Given the description of an element on the screen output the (x, y) to click on. 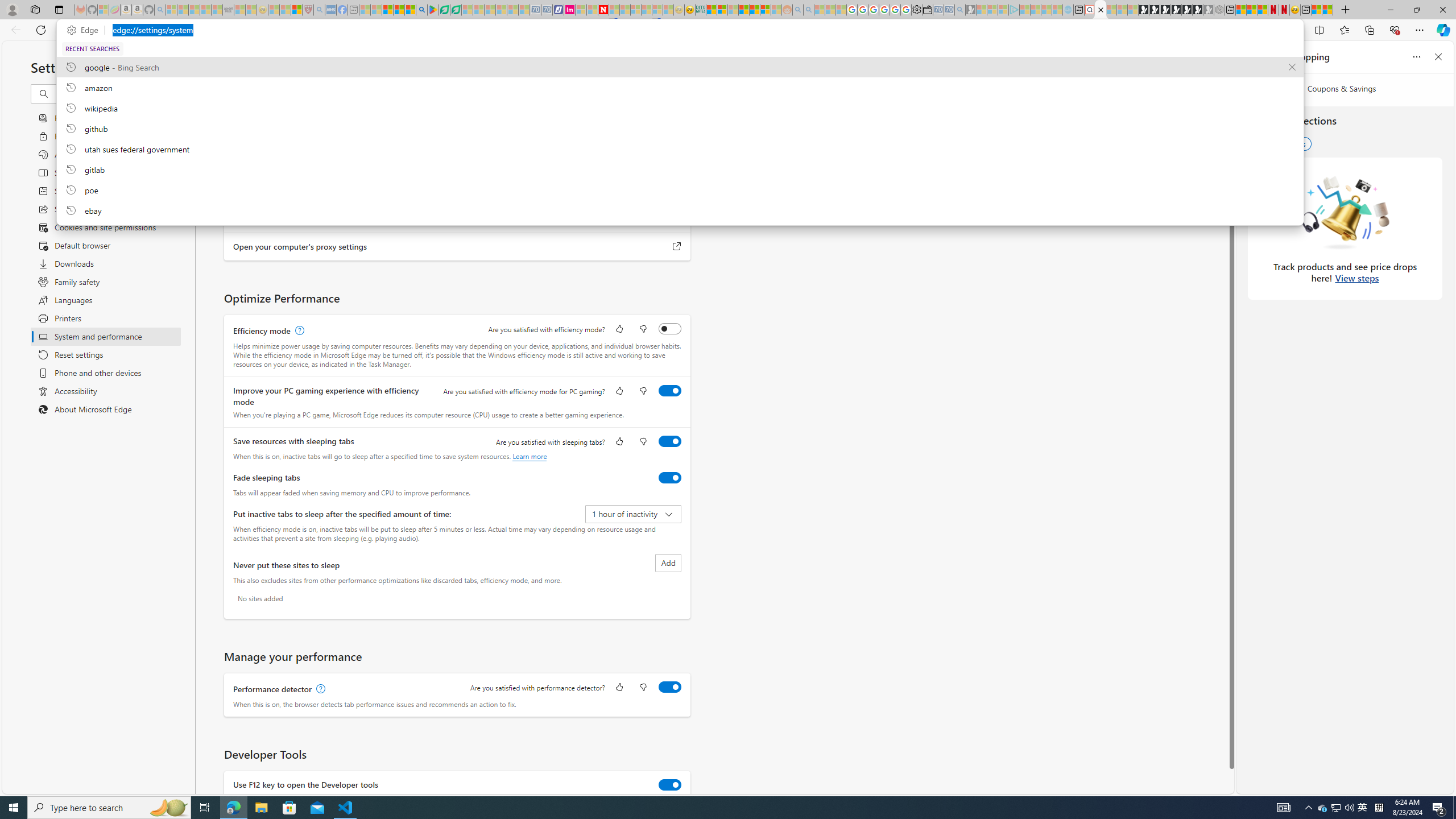
Kinda Frugal - MSN (754, 9)
Terms of Use Agreement (443, 9)
ebay, recent searches from history (679, 209)
